Given the description of an element on the screen output the (x, y) to click on. 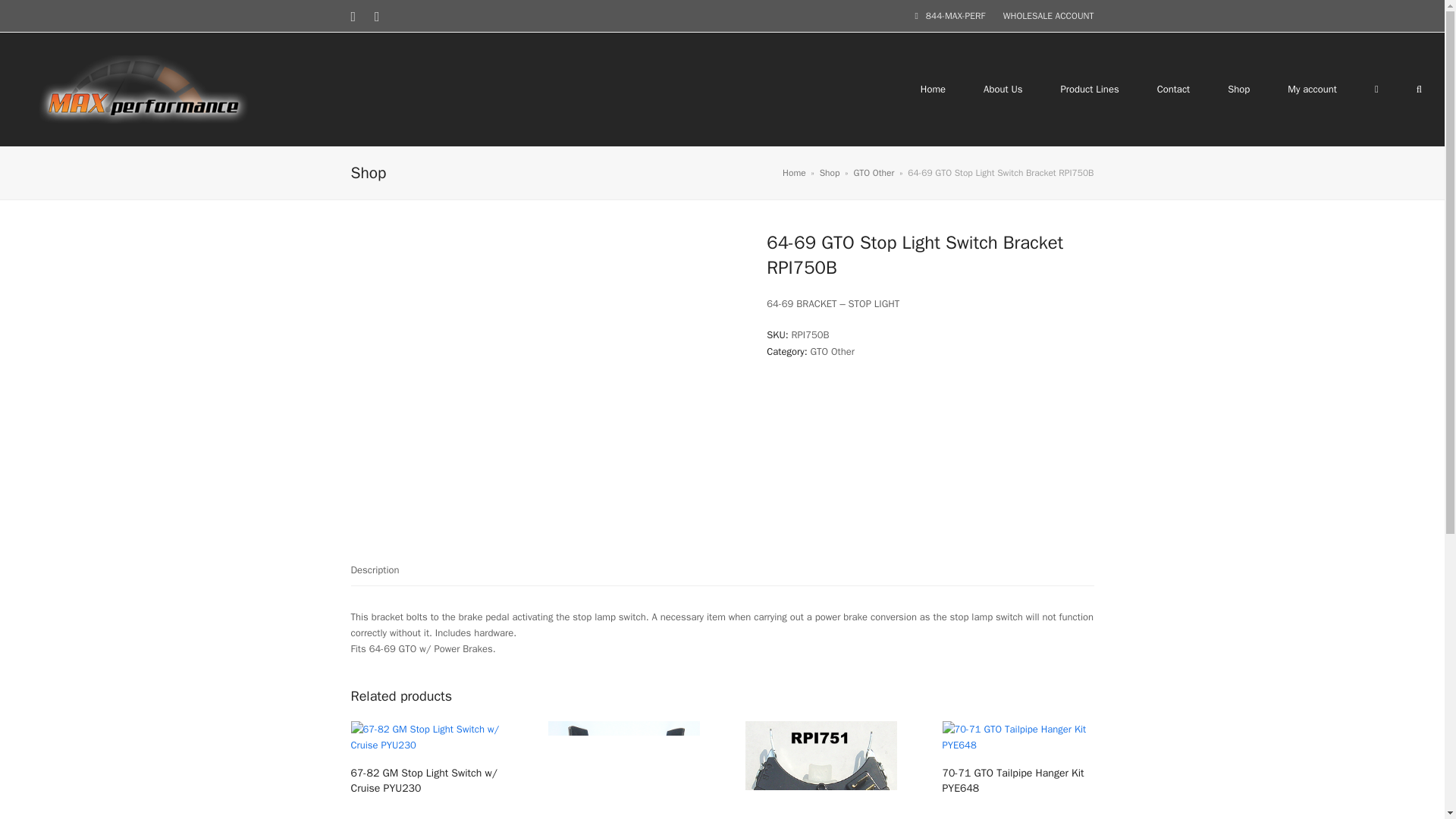
Home (932, 89)
Product Lines (1090, 89)
Contact (1173, 89)
WHOLESALE ACCOUNT (1048, 15)
Shop (829, 173)
GTO Other (873, 173)
Shop (1237, 89)
Home (794, 173)
70-71 GTO Tailpipe Hanger Kit PYE648 (1017, 780)
GTO Other (831, 350)
